Given the description of an element on the screen output the (x, y) to click on. 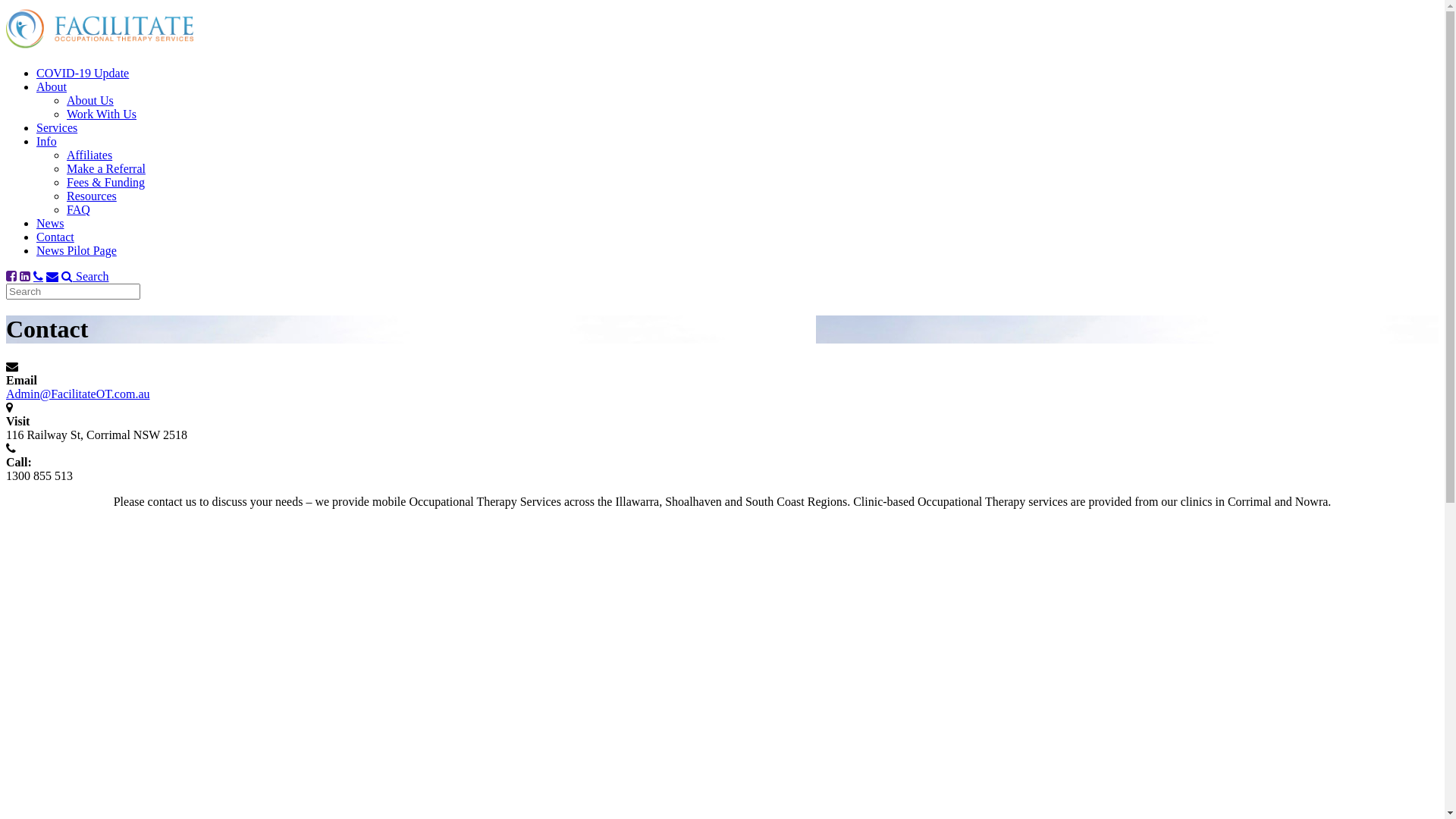
About Us Element type: text (89, 100)
About Element type: text (51, 86)
Resources Element type: text (91, 195)
Admin@FacilitateOT.com.au Element type: text (78, 393)
Info Element type: text (46, 140)
FAQ Element type: text (78, 209)
Affiliates Element type: text (89, 154)
News Pilot Page Element type: text (76, 250)
COVID-19 Update Element type: text (82, 72)
Facilitate OT Element type: hover (99, 46)
Fees & Funding Element type: text (105, 181)
Work With Us Element type: text (101, 113)
Contact Element type: text (55, 236)
Make a Referral Element type: text (105, 168)
Services Element type: text (56, 127)
News Element type: text (49, 222)
